Given the description of an element on the screen output the (x, y) to click on. 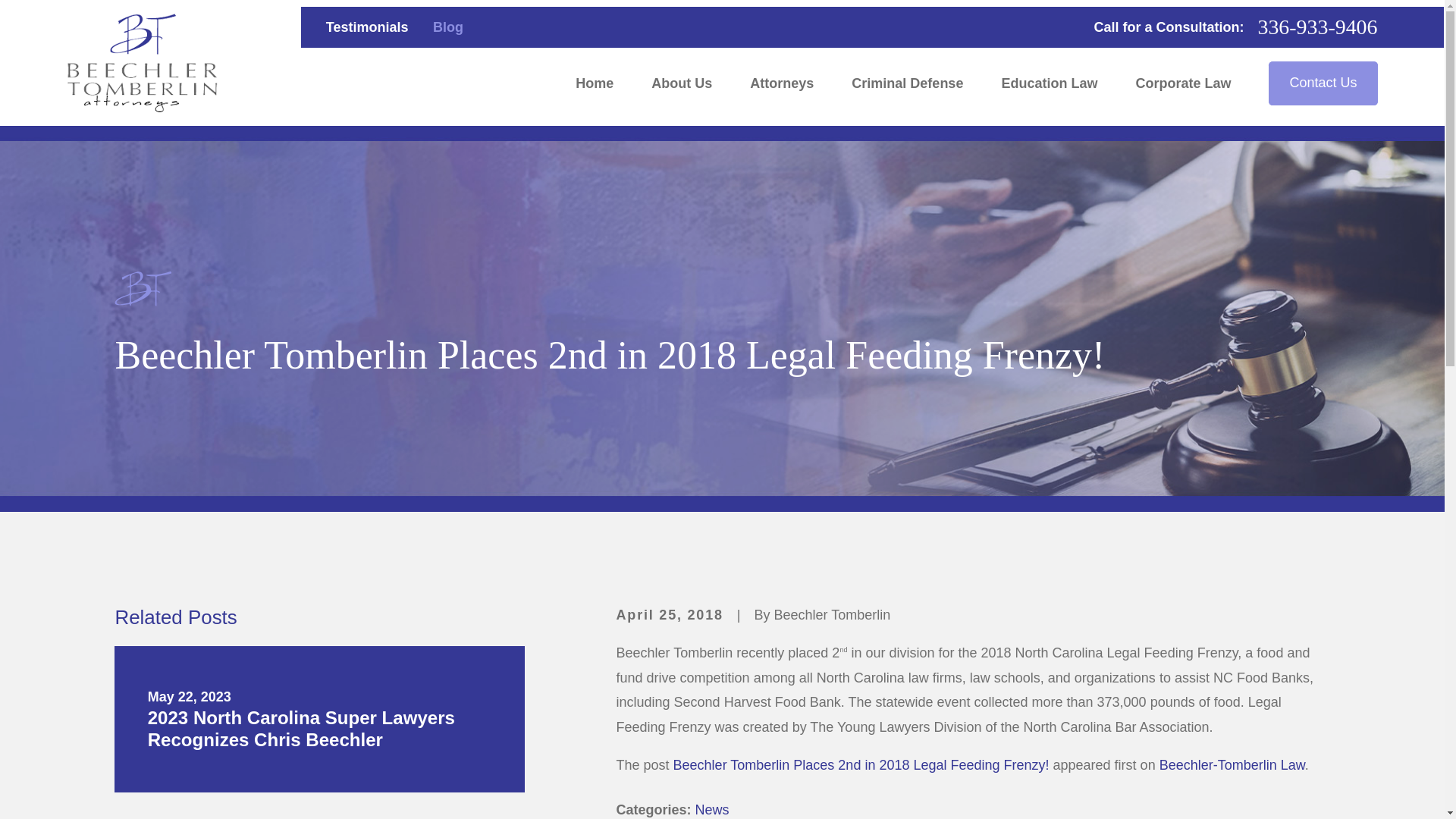
Home (593, 83)
336-933-9406 (1317, 26)
Corporate Law (1182, 83)
Testimonials (367, 27)
Blog (447, 27)
About Us (680, 83)
Home (141, 62)
Education Law (1049, 83)
Attorneys (781, 83)
Criminal Defense (906, 83)
